Given the description of an element on the screen output the (x, y) to click on. 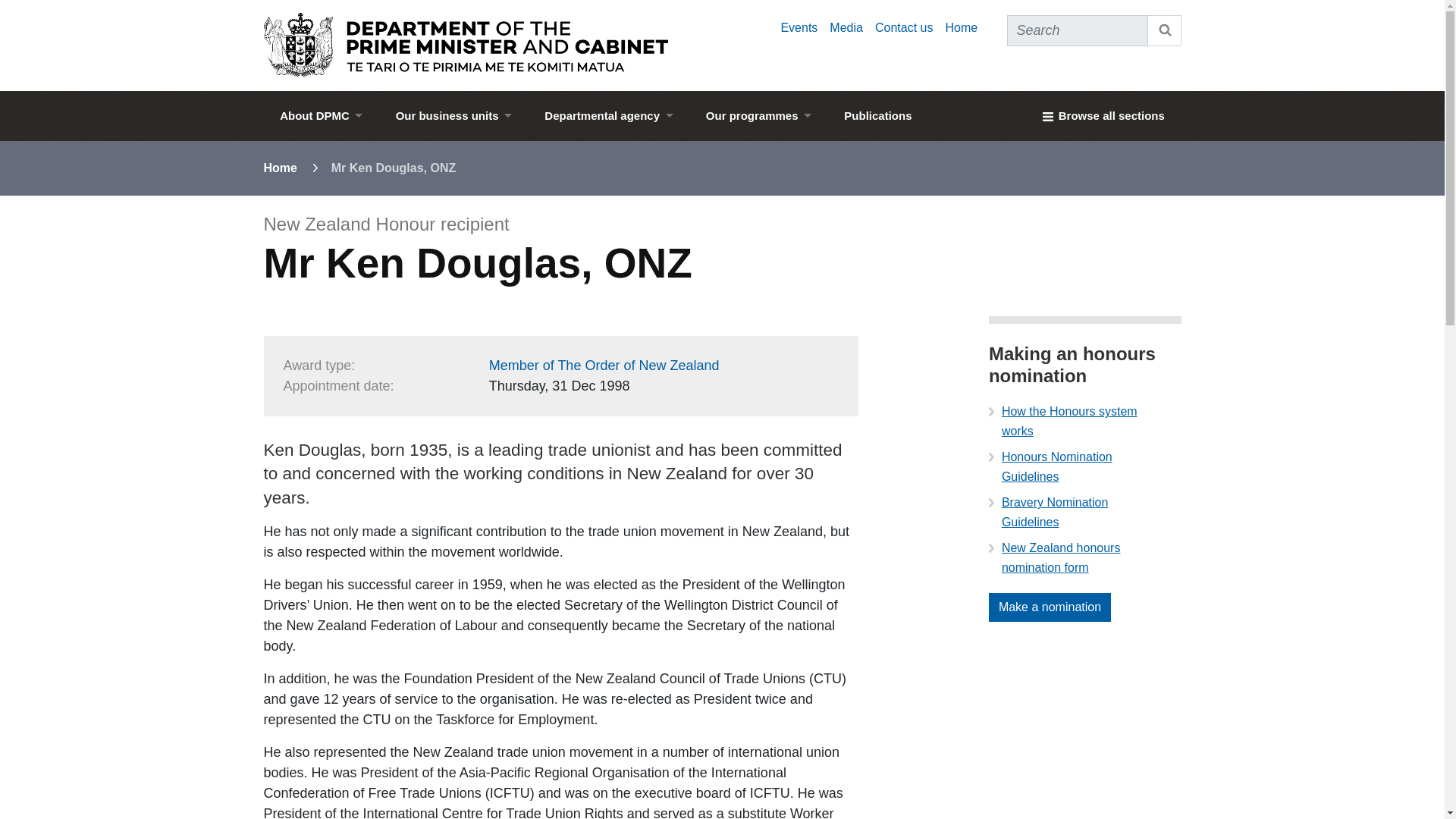
Search (1164, 30)
Search (1164, 30)
Skip to main content (722, 5)
Events (798, 27)
About DPMC (320, 115)
Home (960, 27)
Media (846, 27)
Our business units (453, 115)
Contact us (904, 27)
